Given the description of an element on the screen output the (x, y) to click on. 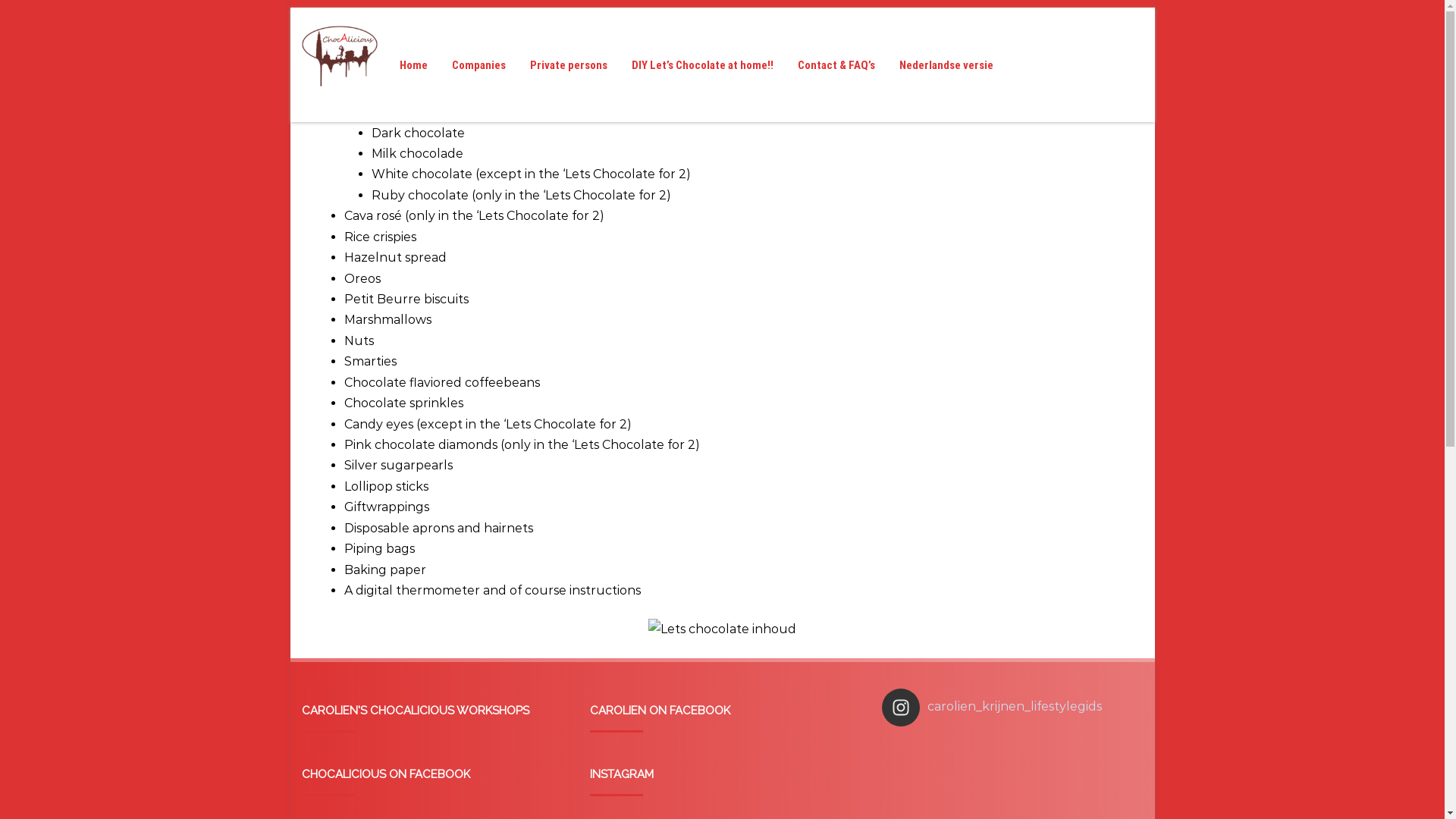
 Chocalicious Element type: hover (339, 115)
carolien_krijnen_lifestylegids Element type: text (1010, 707)
Nederlandse versie Element type: text (945, 64)
Private persons Element type: text (568, 64)
Home Element type: text (413, 64)
Companies Element type: text (477, 64)
